Given the description of an element on the screen output the (x, y) to click on. 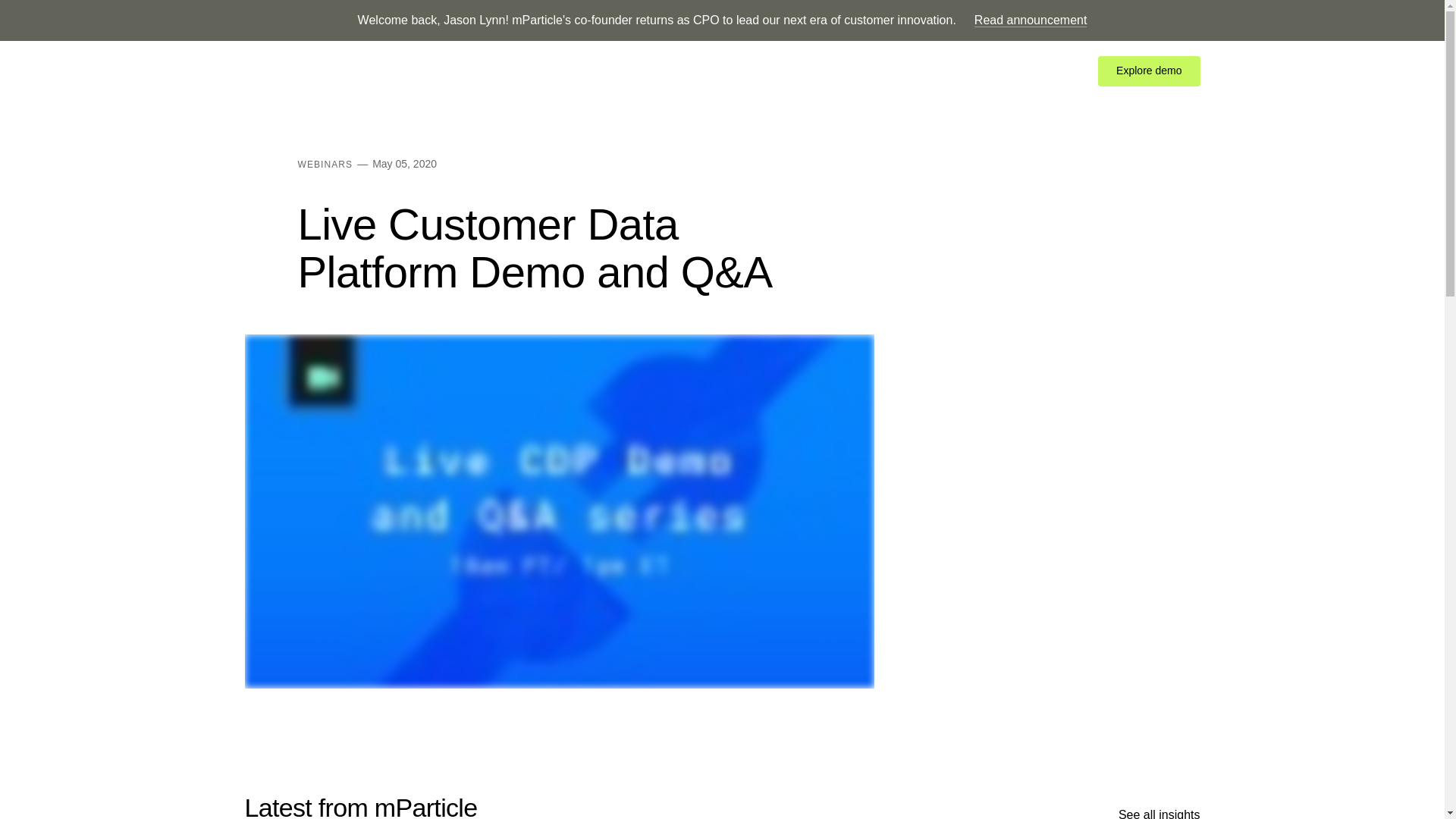
WEBINARS (324, 163)
Login (985, 70)
Contact us (1048, 70)
Read announcement (1030, 20)
Explore demo (1148, 71)
Resources (557, 70)
See all insights (1158, 813)
